Given the description of an element on the screen output the (x, y) to click on. 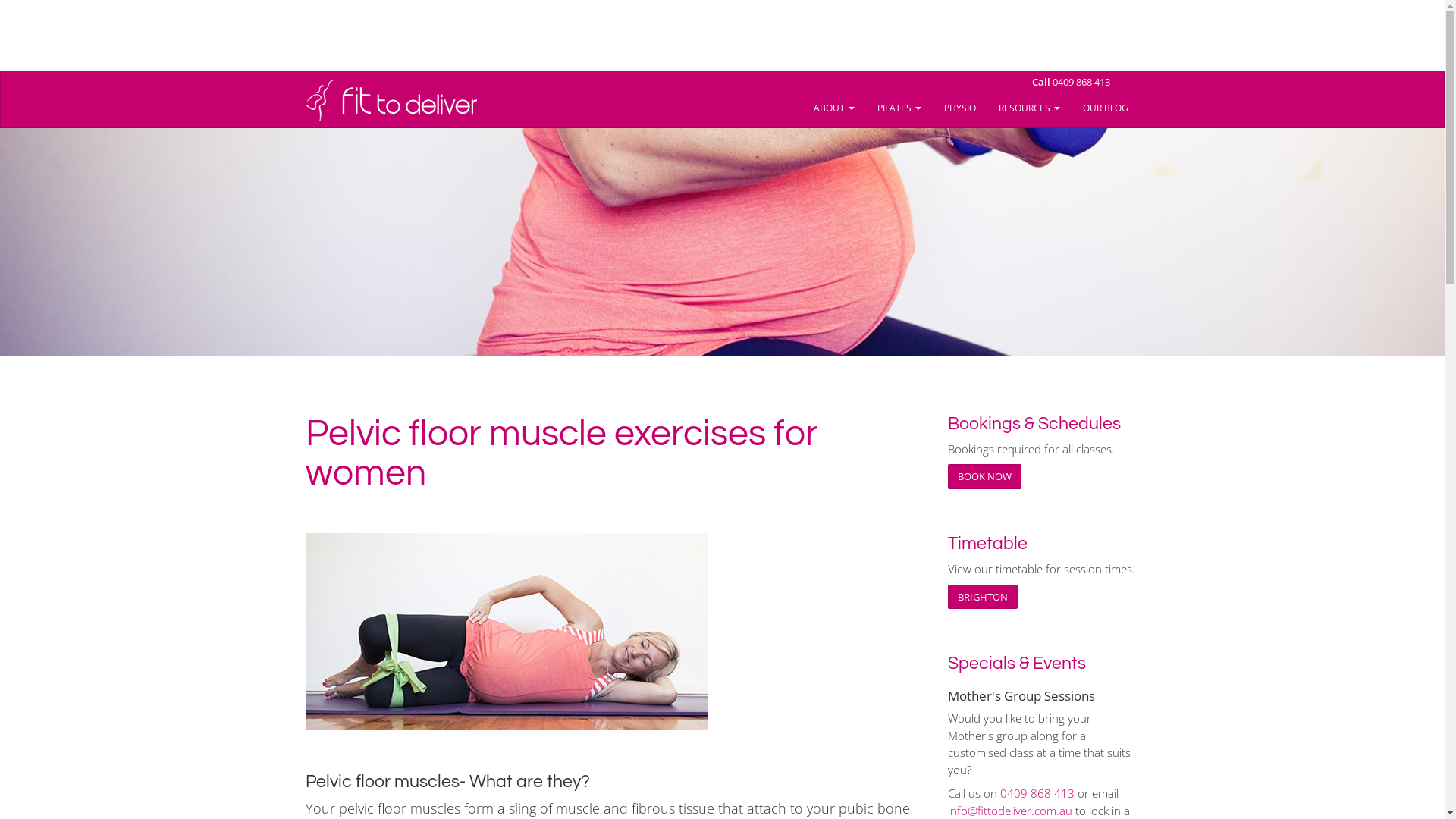
info@fittodeliver.com.au Element type: text (1009, 810)
BOOK NOW Element type: text (984, 476)
OUR BLOG Element type: text (1104, 108)
PILATES Element type: text (899, 108)
PHYSIO Element type: text (959, 108)
BRIGHTON Element type: text (982, 596)
ABOUT Element type: text (834, 108)
RESOURCES Element type: text (1029, 108)
